Given the description of an element on the screen output the (x, y) to click on. 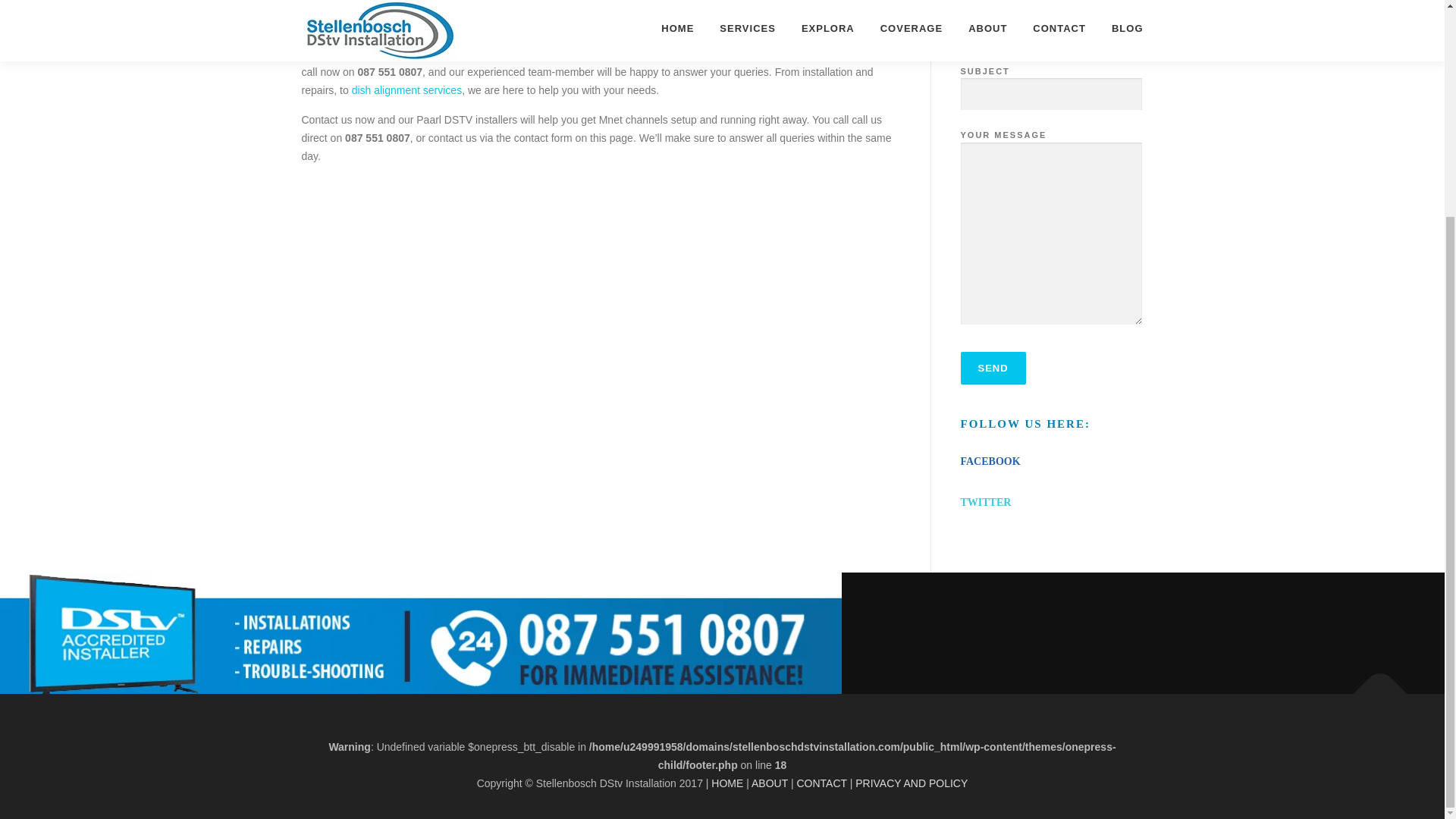
FACEBOOK (989, 460)
Back To Top (1372, 686)
CONTACT (820, 783)
Send (992, 368)
TWITTER (984, 501)
Best DSTV Dish Installation in Stellenbosch (407, 90)
ABOUT (769, 783)
HOME (726, 783)
Send (992, 368)
Reputable DSTV Decoder Repairs in Stellenbosch (553, 54)
PRIVACY AND POLICY (912, 783)
emergency decoder repair (553, 54)
dish alignment services (407, 90)
